Given the description of an element on the screen output the (x, y) to click on. 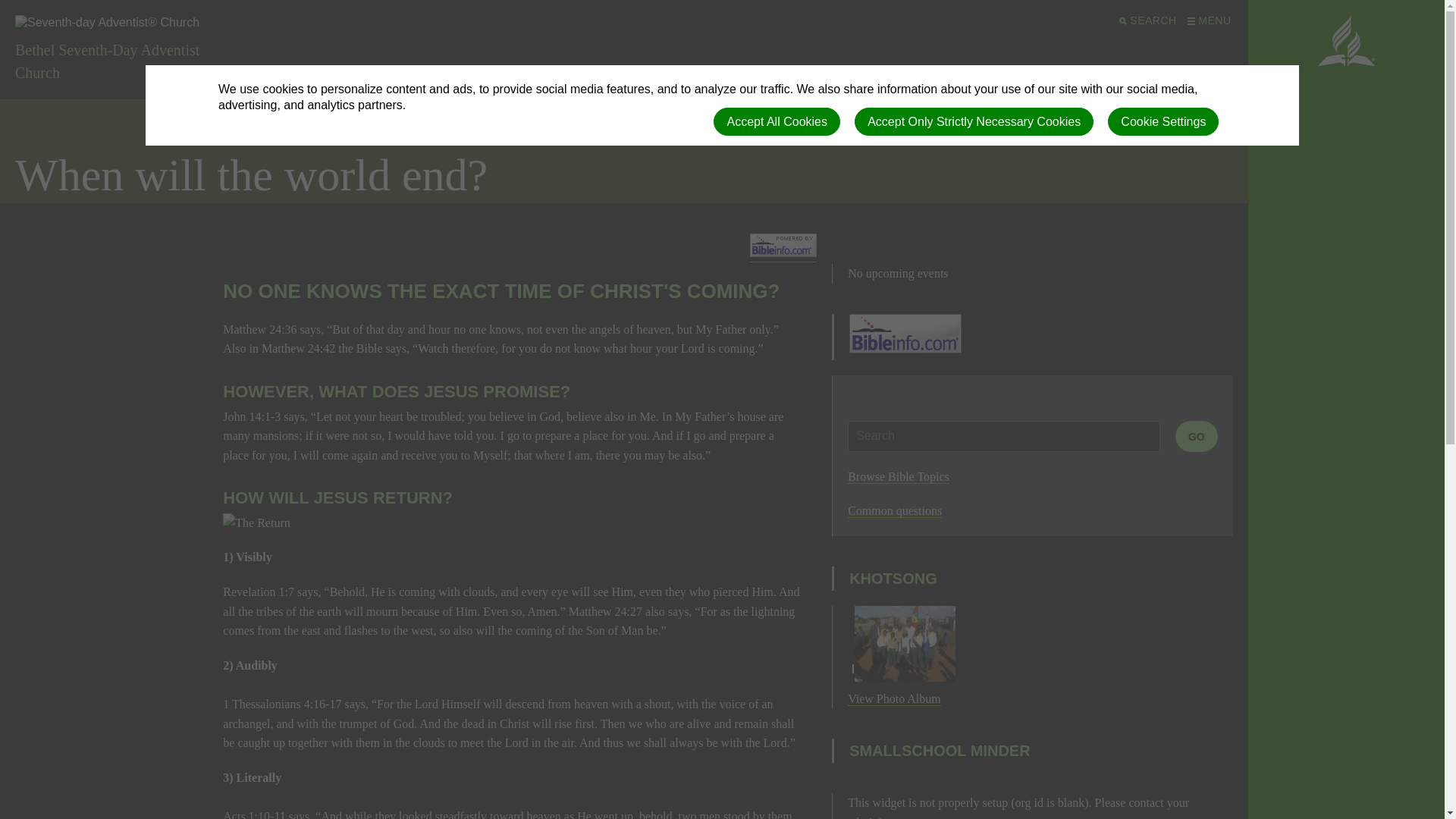
Go (1195, 436)
Bethel Seventh-Day Adventist Church (128, 49)
icon-logo (1345, 40)
icon-logo (1345, 40)
testing (975, 74)
Resource (1162, 74)
Bethel Located (648, 74)
Prayer Request (750, 74)
Departments (849, 74)
Elder's view (555, 74)
Home (312, 74)
SEARCH (1147, 20)
MENU (1207, 20)
Visitor's contact us (1063, 74)
